Given the description of an element on the screen output the (x, y) to click on. 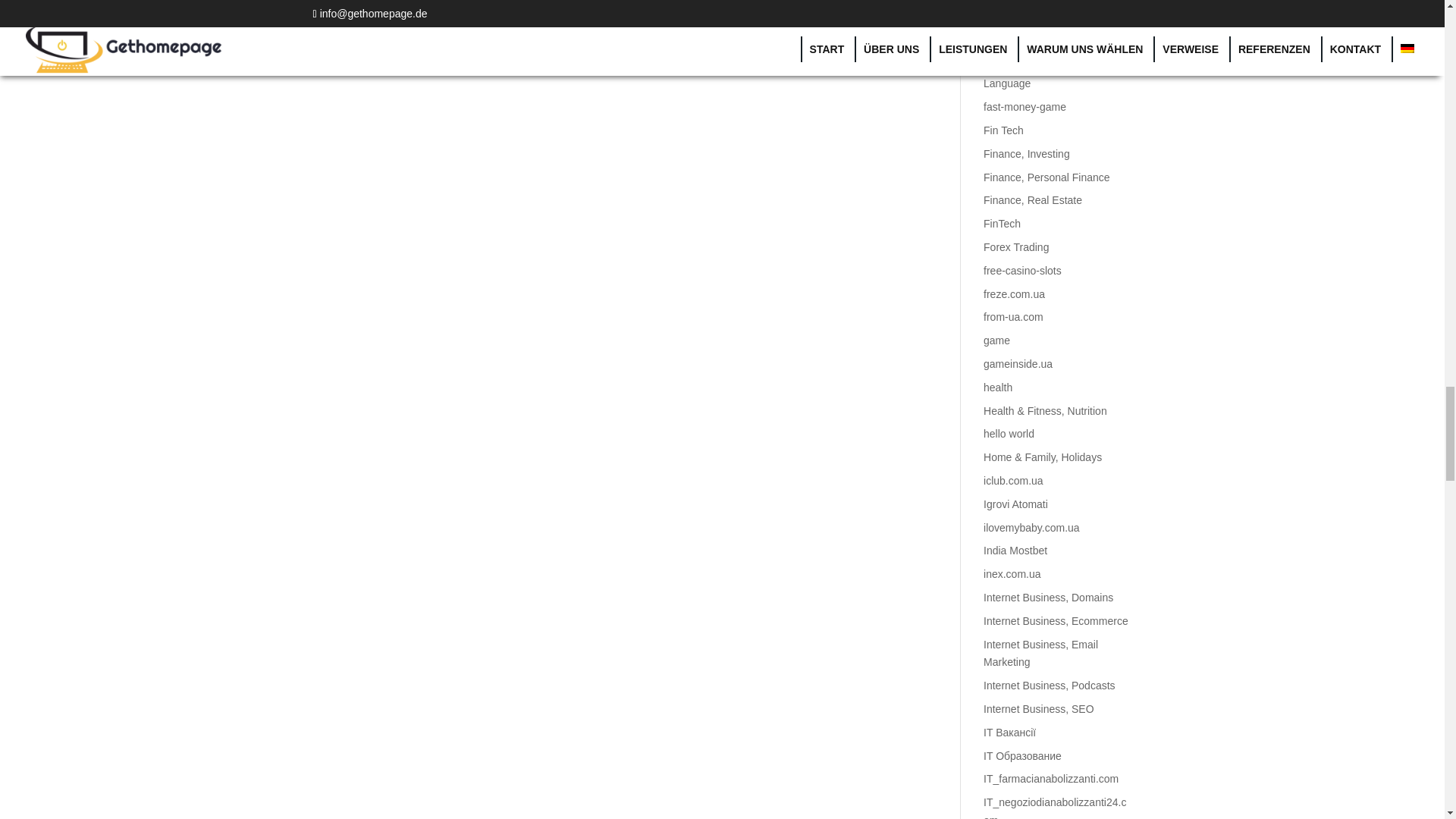
Internet Business, Email Marketing (1040, 653)
Finance, Investing (1027, 153)
Finance, Real Estate (1032, 200)
Internet Business, Domains (1048, 597)
Internet Business, Ecommerce (1056, 621)
Finance, Personal Finance (1046, 177)
